Given the description of an element on the screen output the (x, y) to click on. 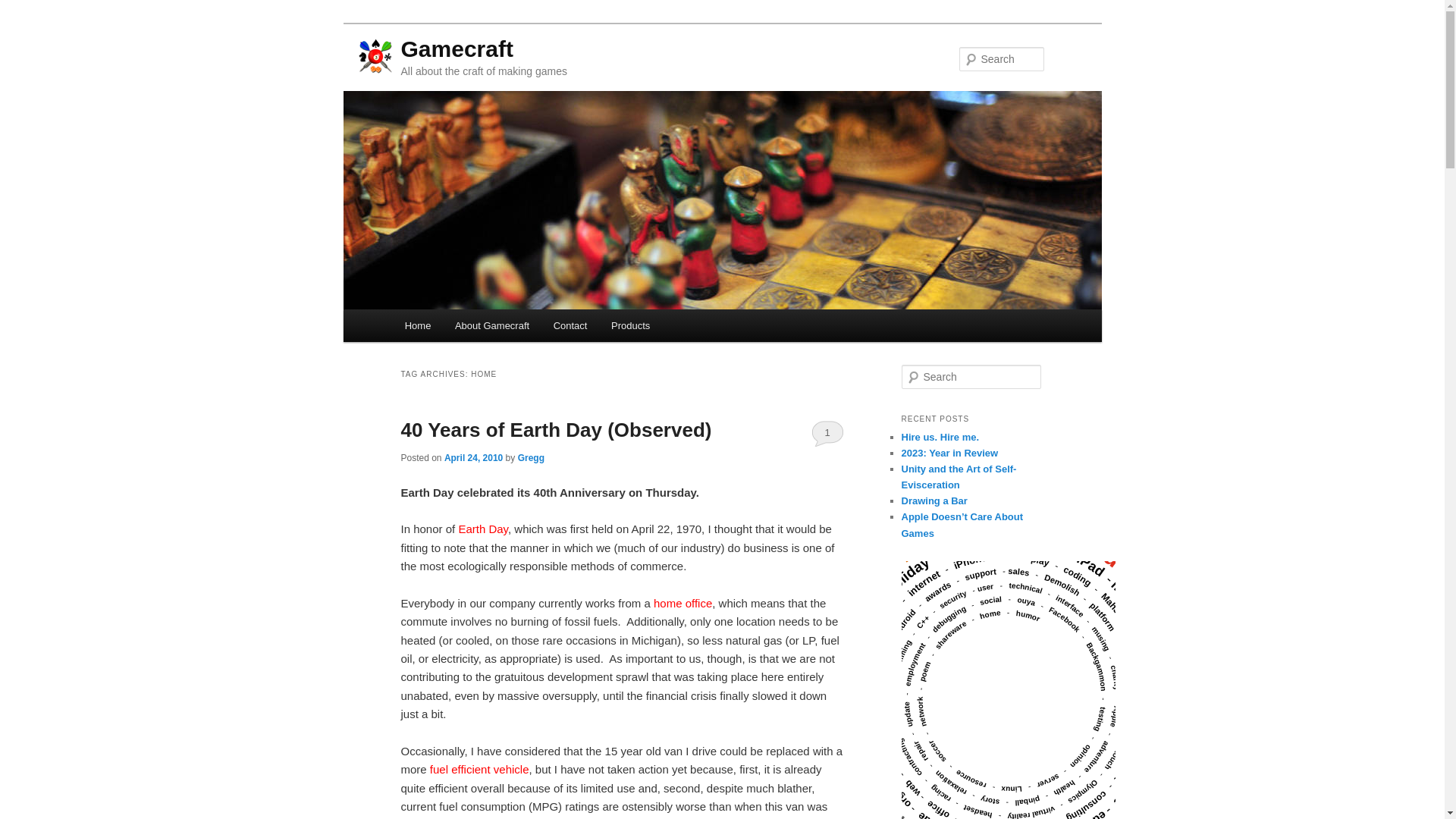
Unity and the Art of Self-Evisceration (958, 476)
April 24, 2010 (473, 457)
View all posts by Gregg (531, 457)
Drawing a Bar (933, 500)
1 (827, 432)
Search (21, 11)
Gregg (531, 457)
Hire us. Hire me. (939, 437)
Gamecraft (456, 48)
About Gamecraft (491, 325)
Home (417, 325)
11:00 pm (473, 457)
Products (630, 325)
